Given the description of an element on the screen output the (x, y) to click on. 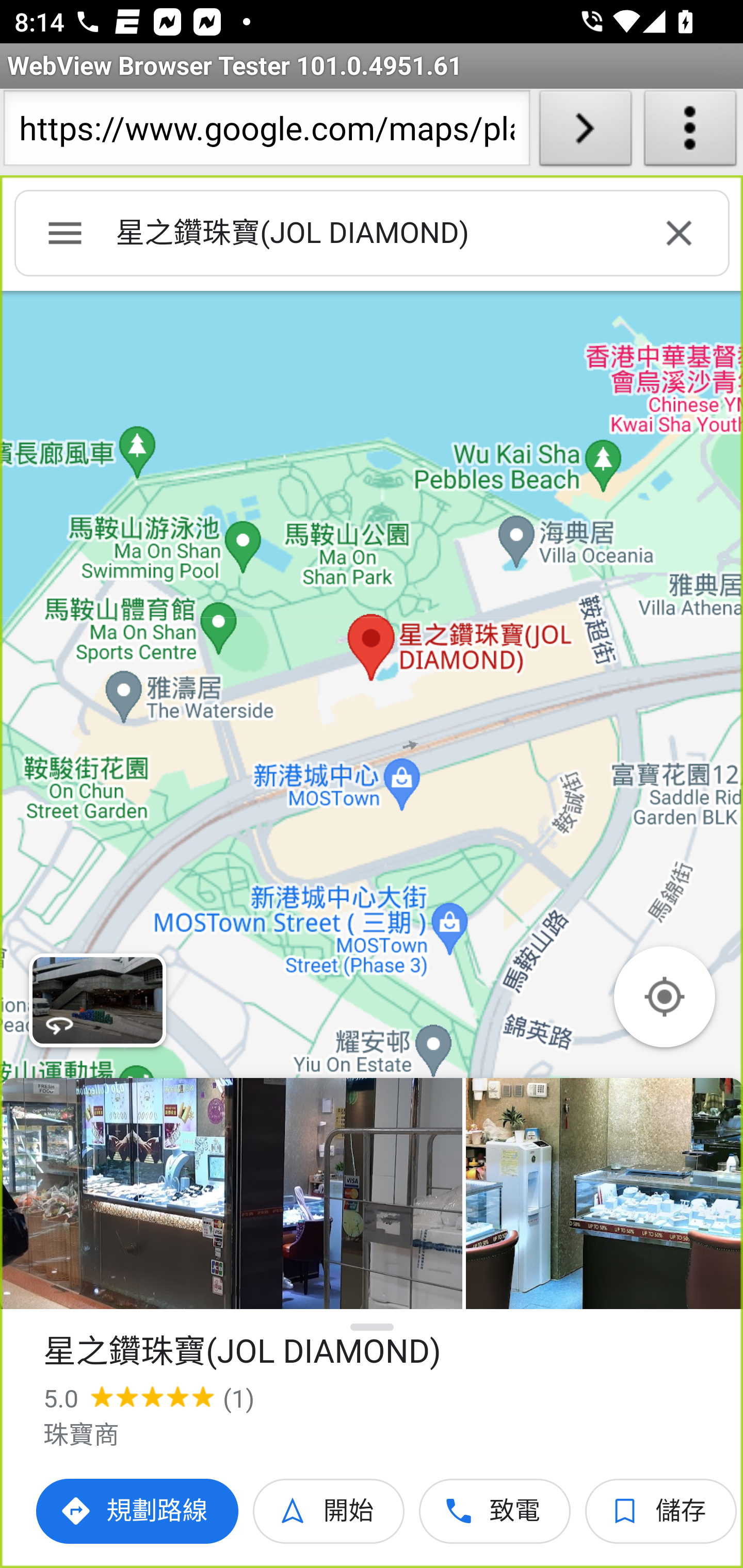
Load URL (585, 132)
About WebView (690, 132)
第 1 張相片 (共 6 張) (231, 1193)
第 2 張相片 (共 6 張) (604, 1193)
顯示詳細資料 (372, 1327)
前往星之鑽珠寶(JOL DIAMOND)的路線 (137, 1511)
開始 (329, 1511)
致電「星之鑽珠寶(JOL DIAMOND)」  致電 (495, 1511)
將「星之鑽珠寶(JOL DIAMOND)」儲存至清單中 (661, 1511)
